Given the description of an element on the screen output the (x, y) to click on. 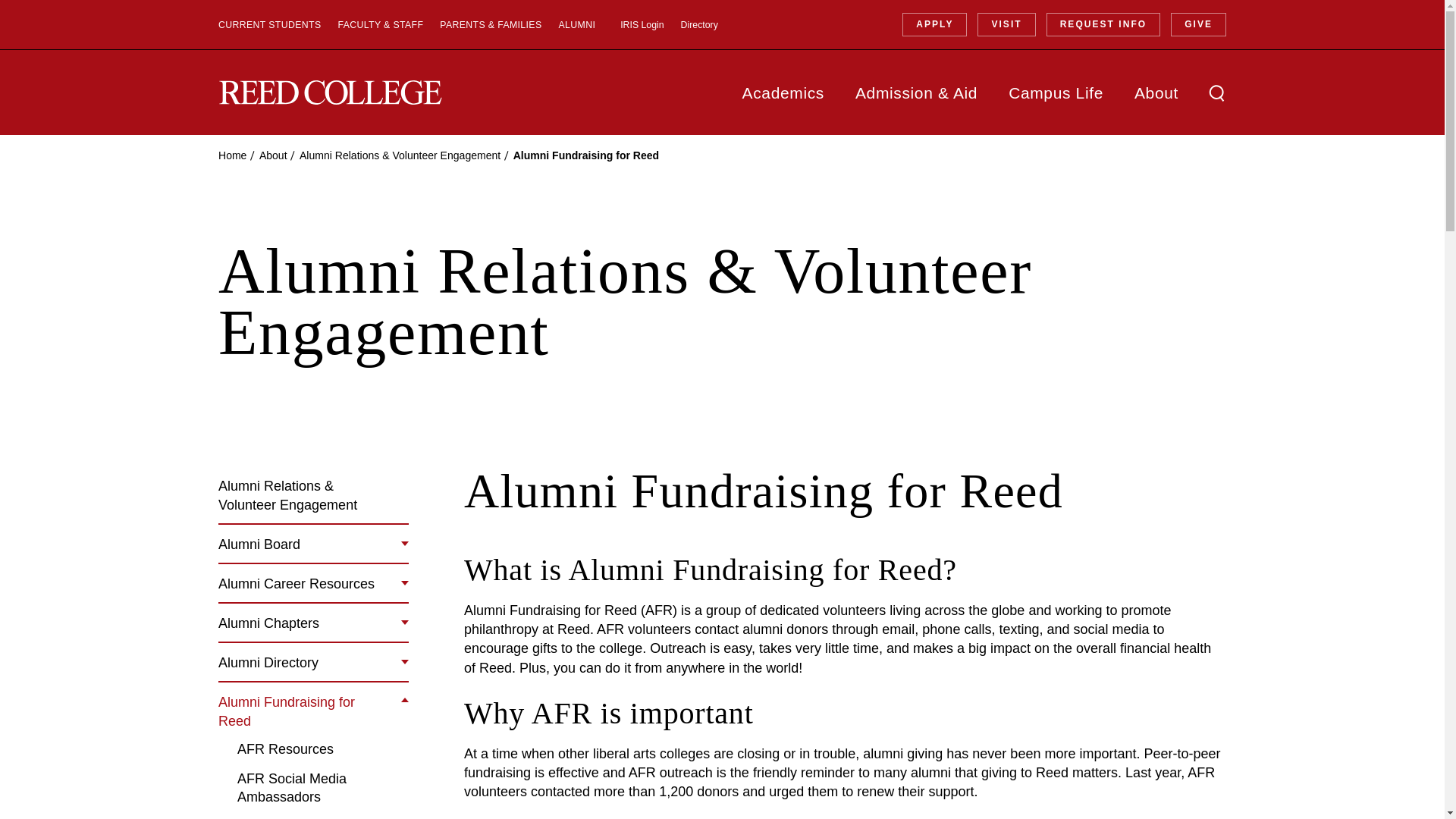
IRIS Login (641, 24)
ALUMNI (576, 24)
Reed College (330, 92)
Directory (699, 24)
Alumni Board (258, 544)
Page 1 (844, 757)
Academics (782, 92)
APPLY (934, 24)
About (272, 155)
VISIT (1005, 24)
